Given the description of an element on the screen output the (x, y) to click on. 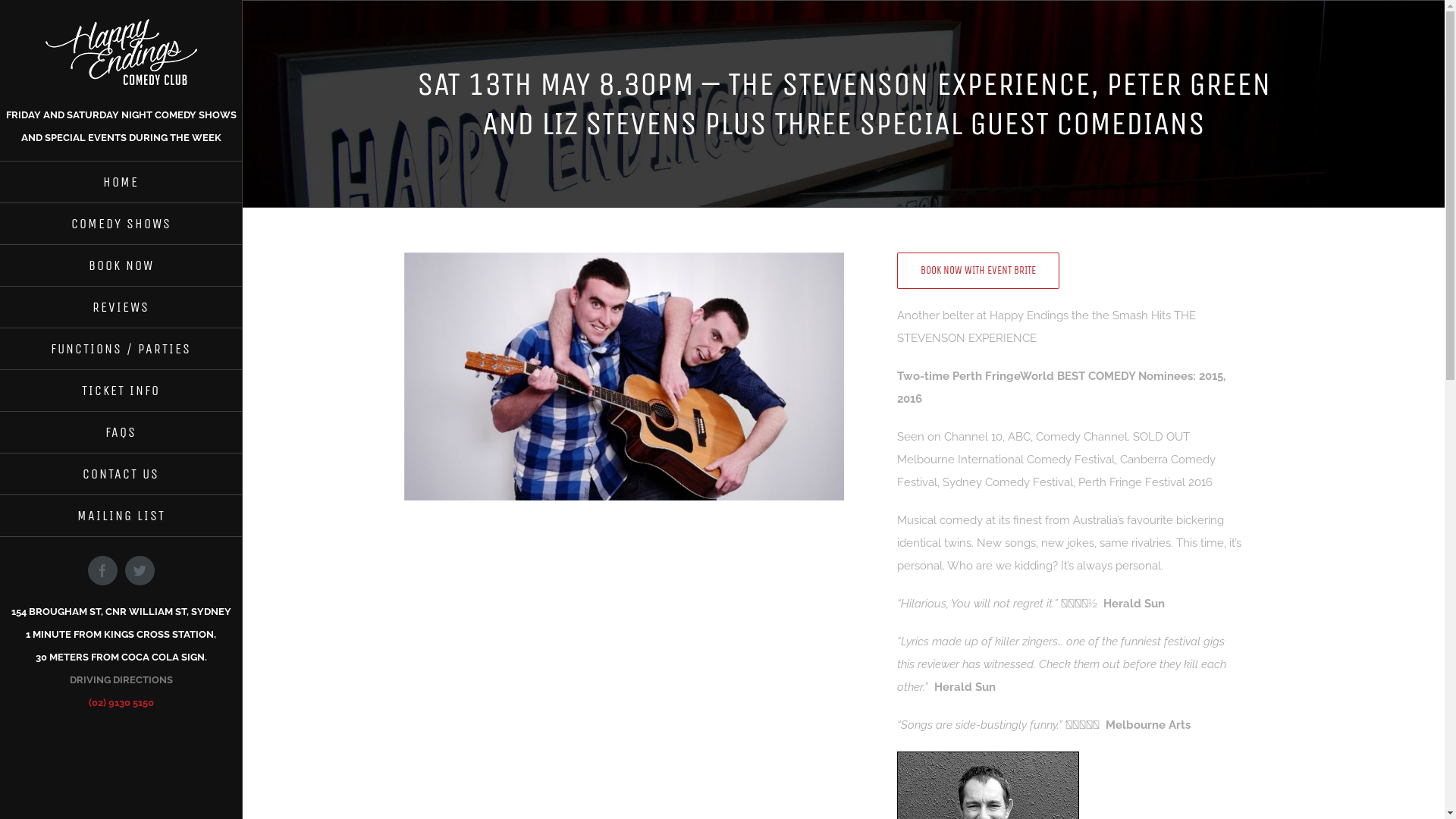
REVIEWS Element type: text (120, 307)
MAILING LIST Element type: text (120, 515)
FAQS Element type: text (120, 432)
TICKET INFO Element type: text (120, 390)
HOME Element type: text (120, 181)
(02) 9130 5150 Element type: text (120, 702)
FUNCTIONS / PARTIES Element type: text (120, 349)
BOOK NOW Element type: text (120, 265)
CONTACT US Element type: text (120, 474)
BOOK NOW WITH EVENT BRITE Element type: text (978, 269)
COMEDY SHOWS Element type: text (120, 223)
